Given the description of an element on the screen output the (x, y) to click on. 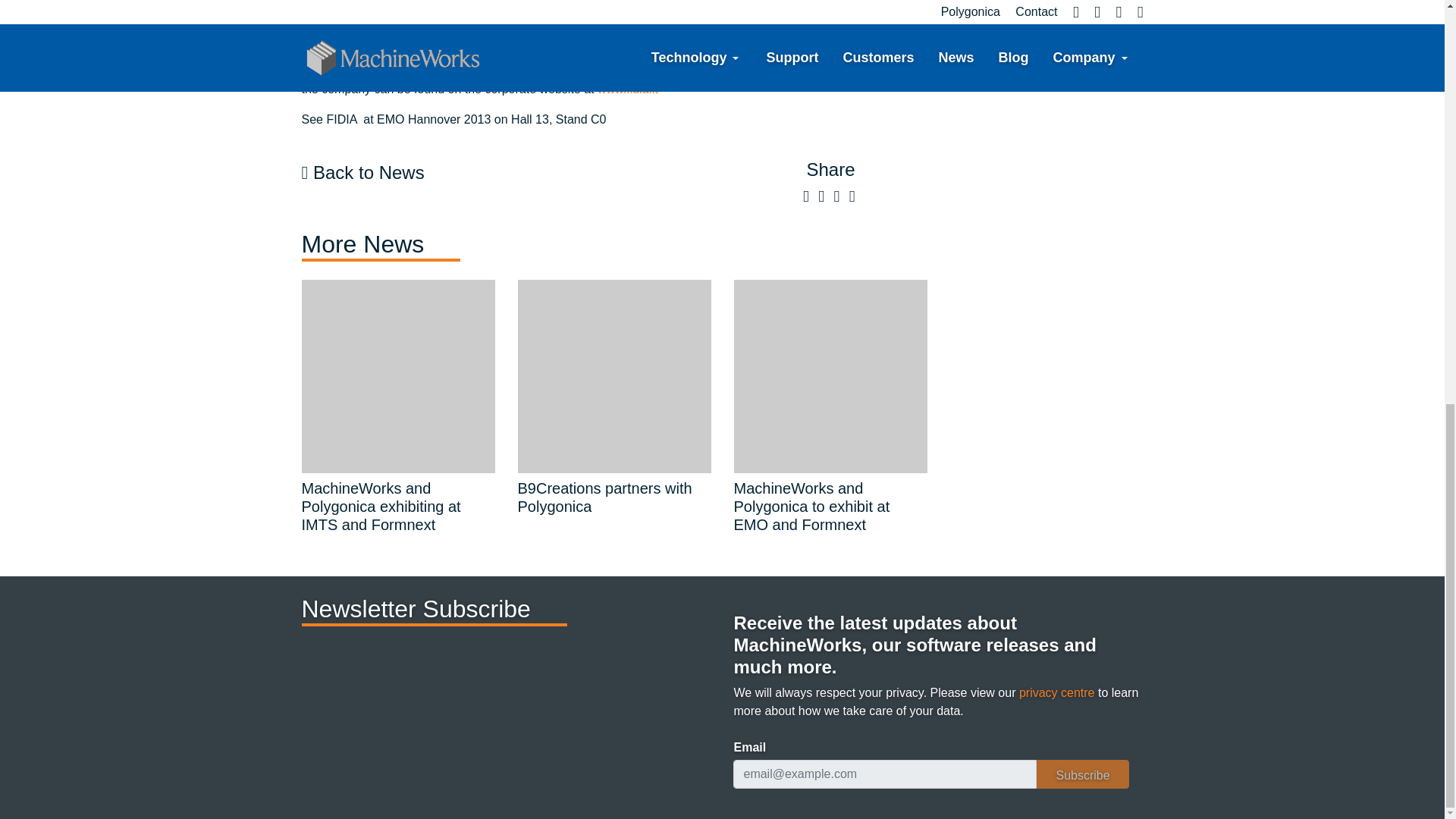
Subscribe (1082, 774)
Back to News (363, 172)
www.fidia.it (627, 88)
privacy centre (1056, 692)
